Given the description of an element on the screen output the (x, y) to click on. 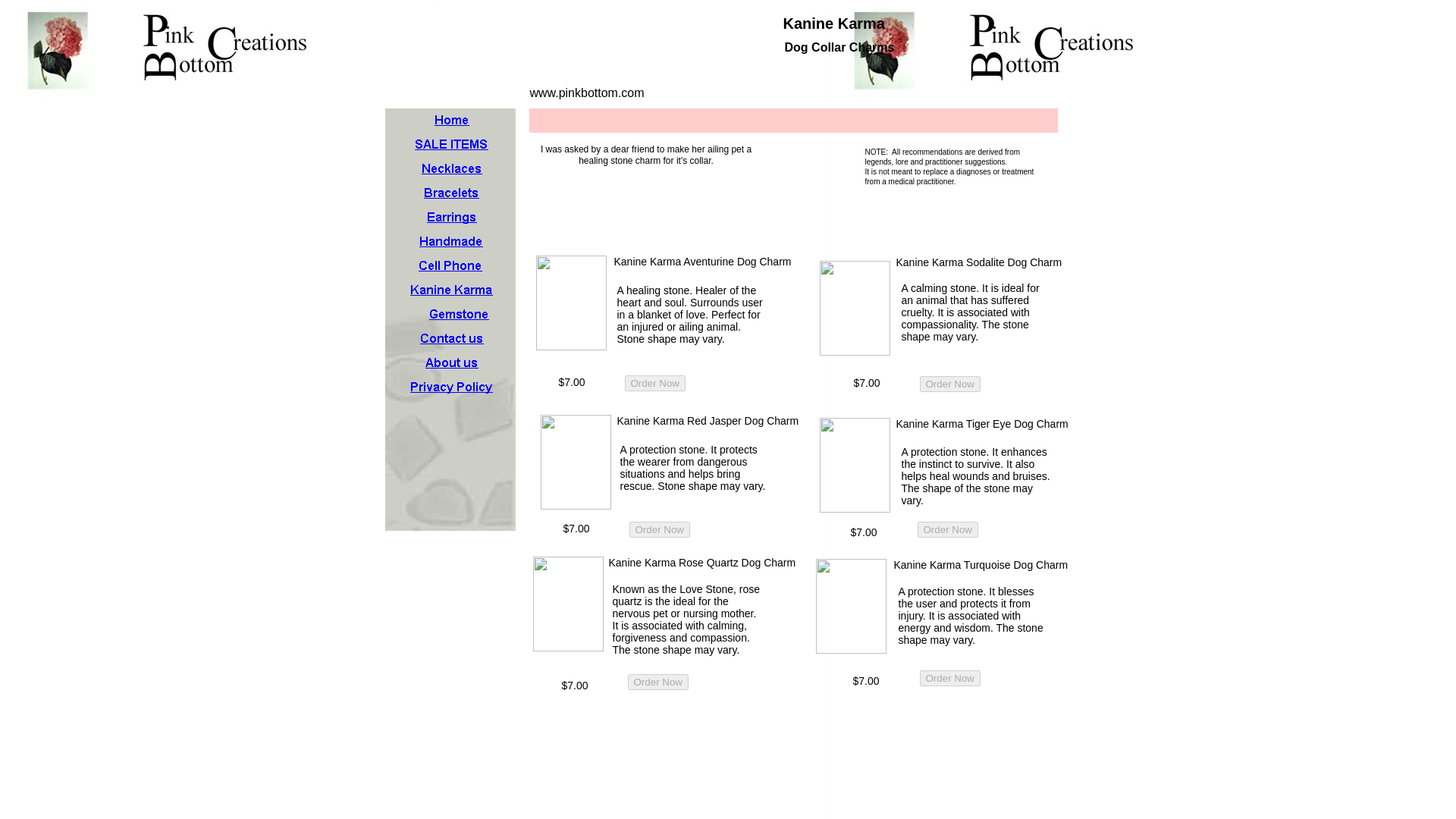
Order Now (659, 529)
Order Now (654, 383)
Order Now (948, 678)
Order Now (654, 383)
Order Now (947, 529)
Order Now (947, 529)
Order Now (948, 383)
Order Now (657, 682)
Order Now (948, 383)
Order Now (659, 529)
